Given the description of an element on the screen output the (x, y) to click on. 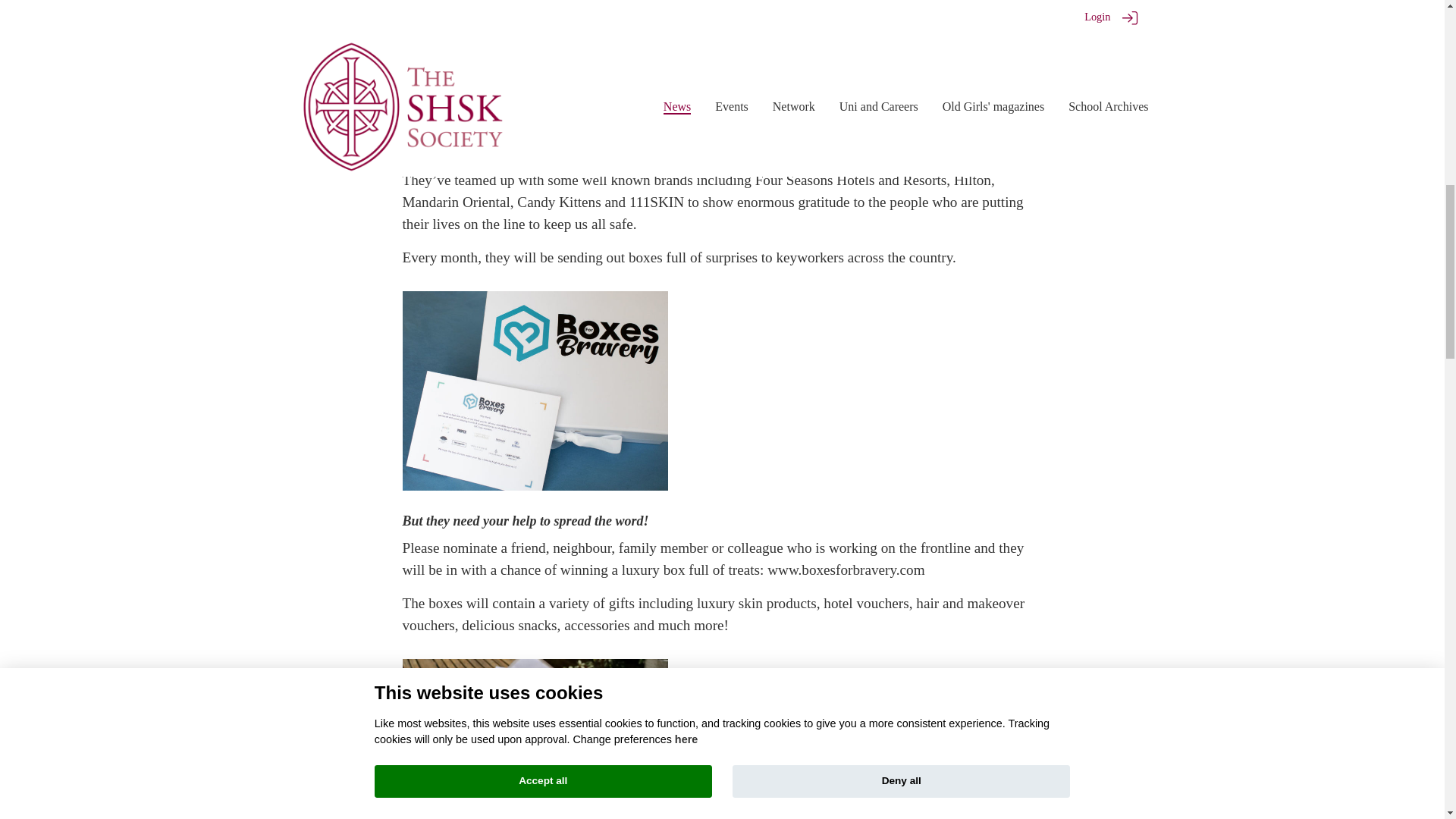
emc3 (787, 123)
www.boxesforbravery.com (845, 569)
